Given the description of an element on the screen output the (x, y) to click on. 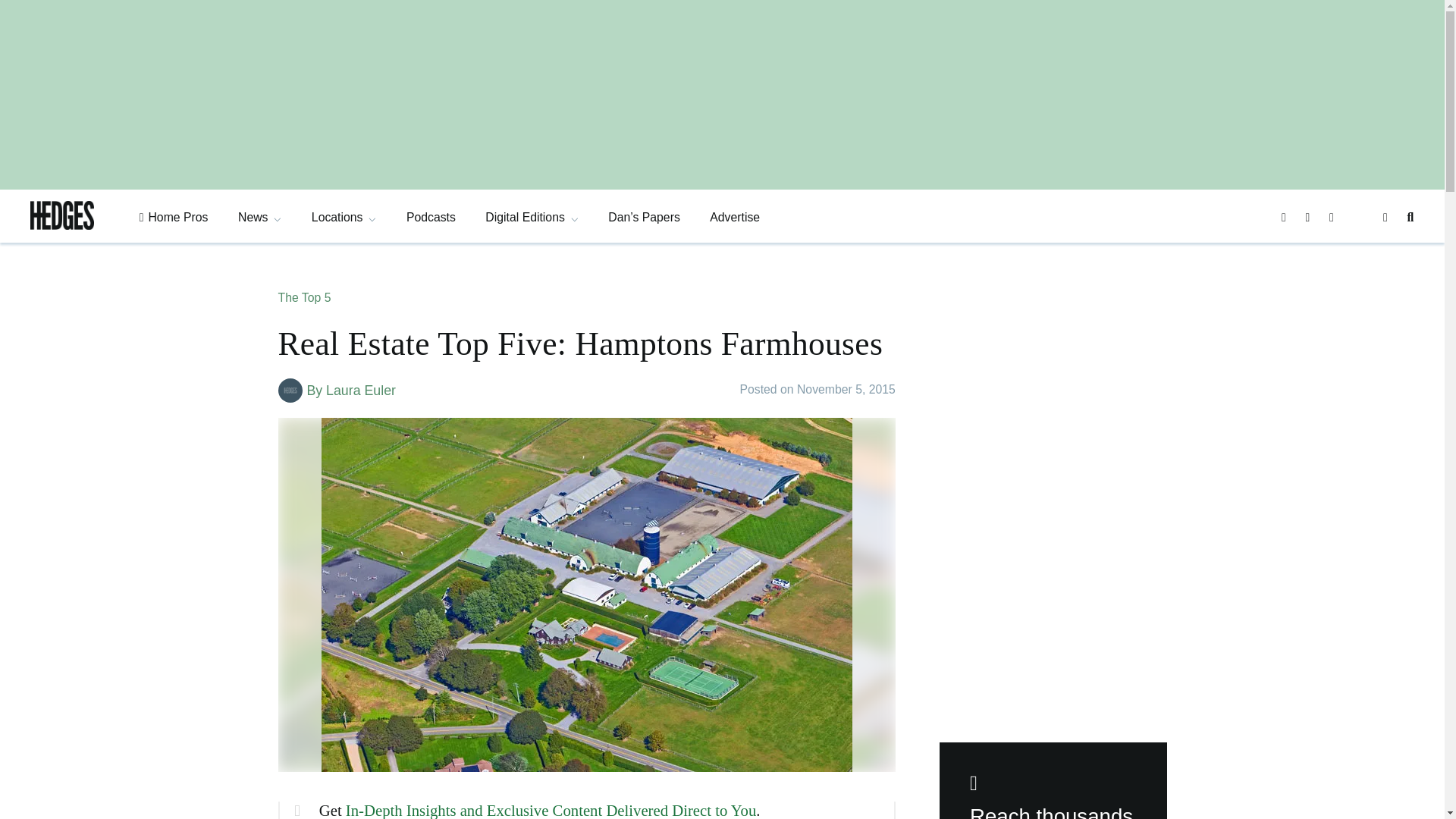
3rd party ad content (1052, 610)
Locations (344, 216)
Home Pros (173, 216)
News (259, 216)
Advertise (735, 216)
Podcasts (430, 216)
Digital Editions (531, 216)
Posts by Laura Euler (361, 390)
3rd party ad content (1052, 382)
